Given the description of an element on the screen output the (x, y) to click on. 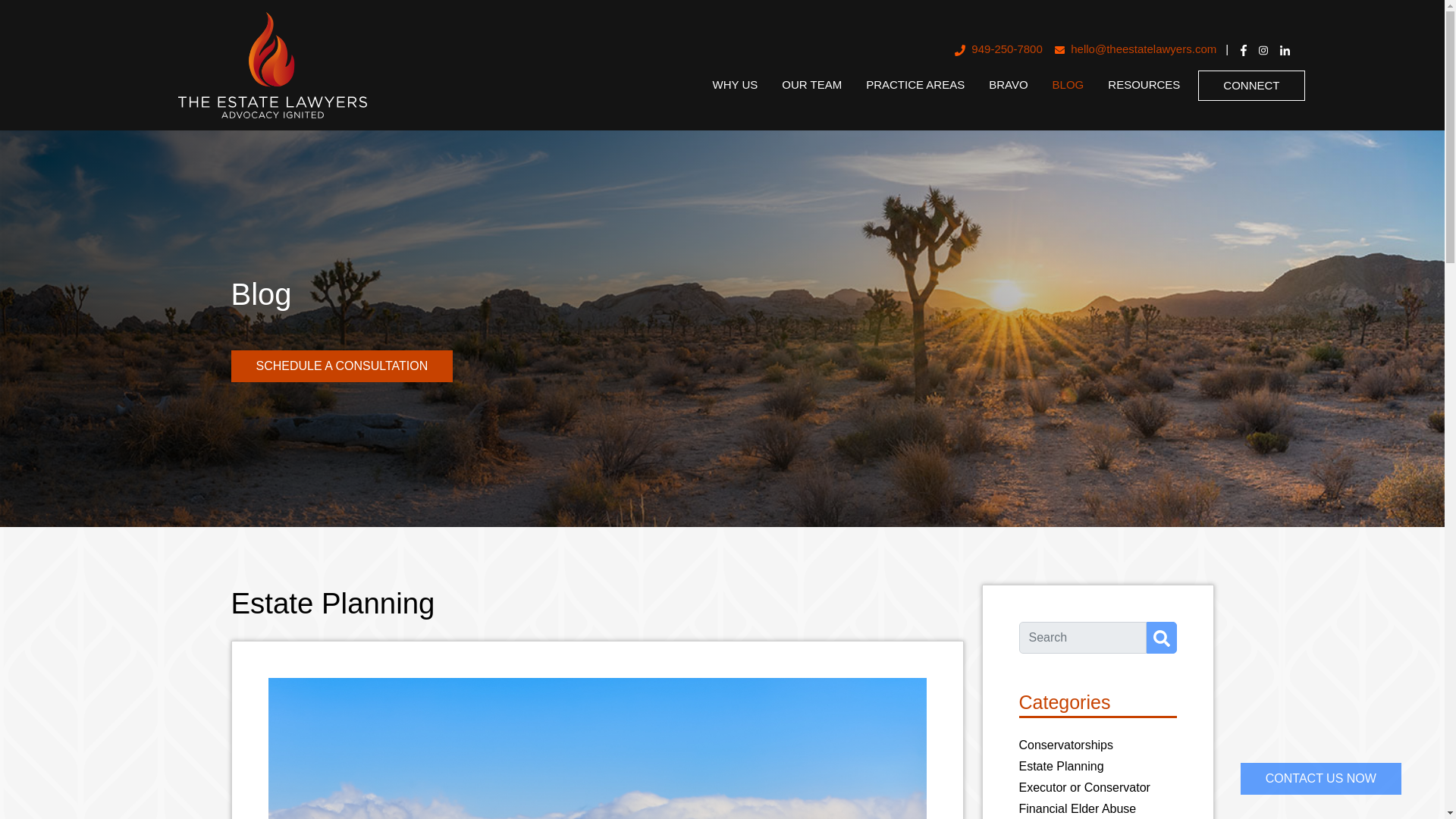
WHY US (735, 84)
949-250-7800 (998, 49)
OUR TEAM (811, 84)
PRACTICE AREAS (914, 84)
